Given the description of an element on the screen output the (x, y) to click on. 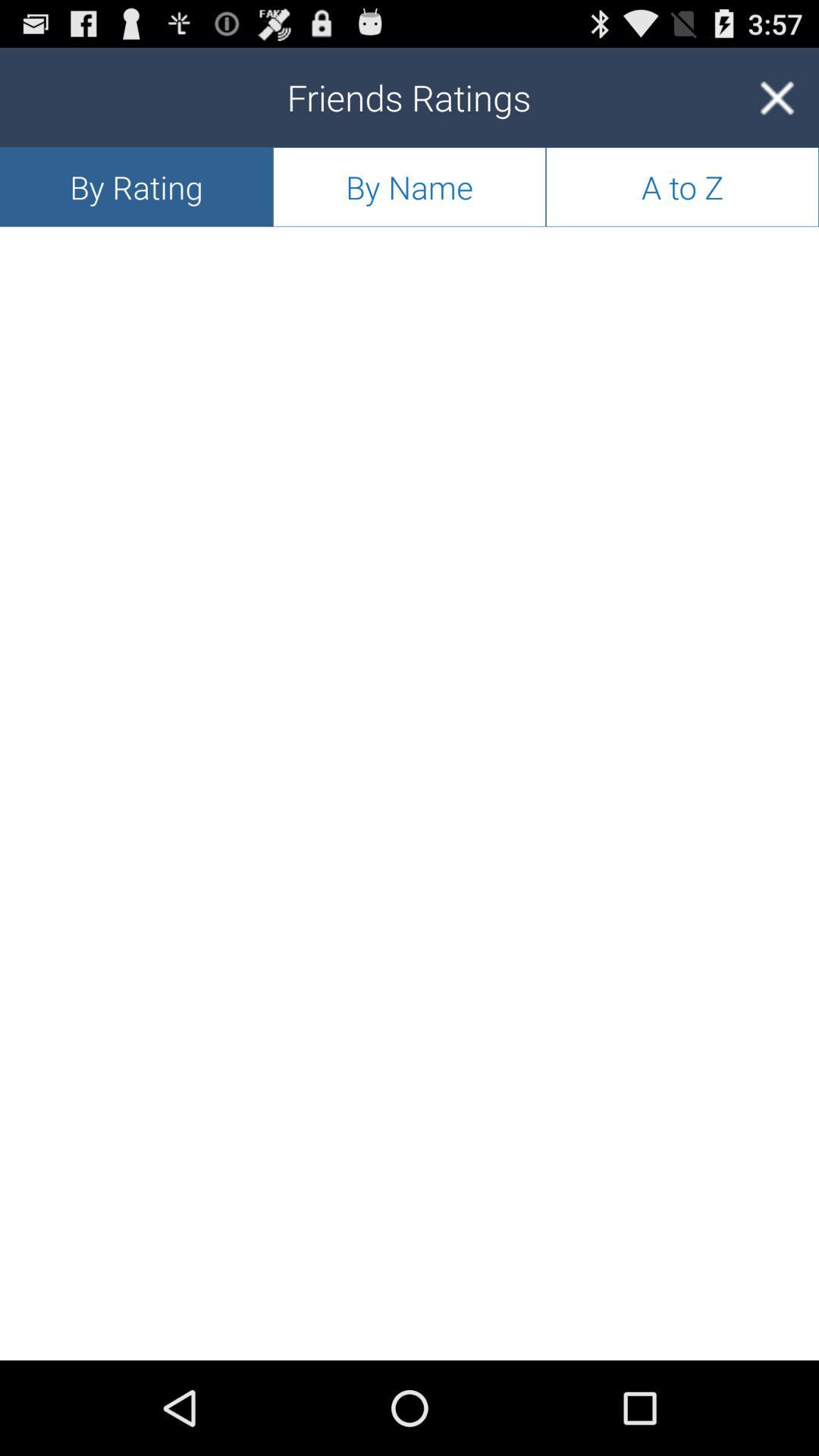
flip until by rating icon (136, 186)
